Given the description of an element on the screen output the (x, y) to click on. 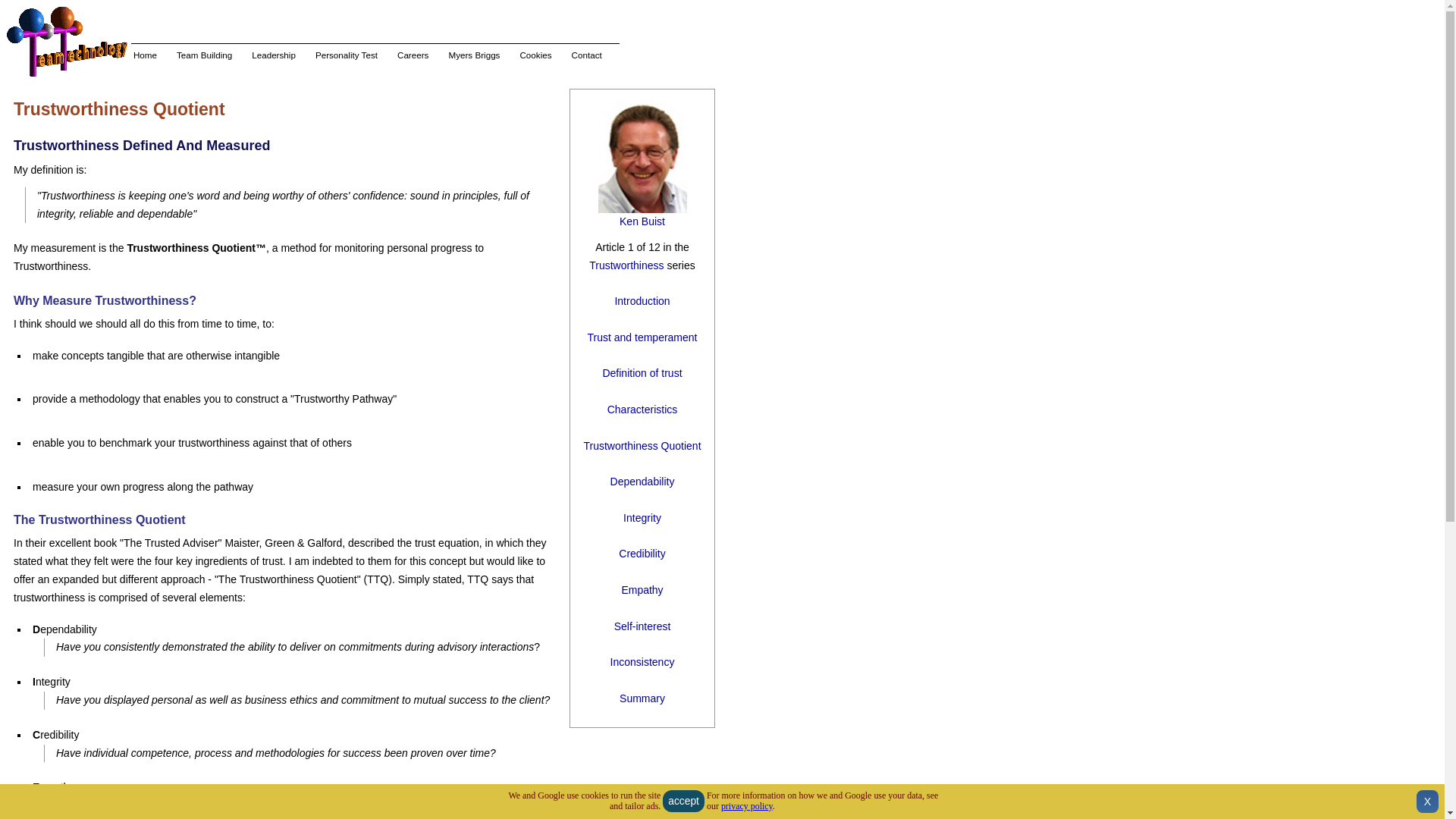
Ken Buist (642, 221)
Characteristics (642, 409)
Empathy (641, 589)
Myers Briggs (473, 55)
Trust and temperament (641, 337)
Inconsistency (642, 662)
Home (145, 55)
Careers (412, 55)
Contact (587, 55)
Integrity (642, 517)
